Given the description of an element on the screen output the (x, y) to click on. 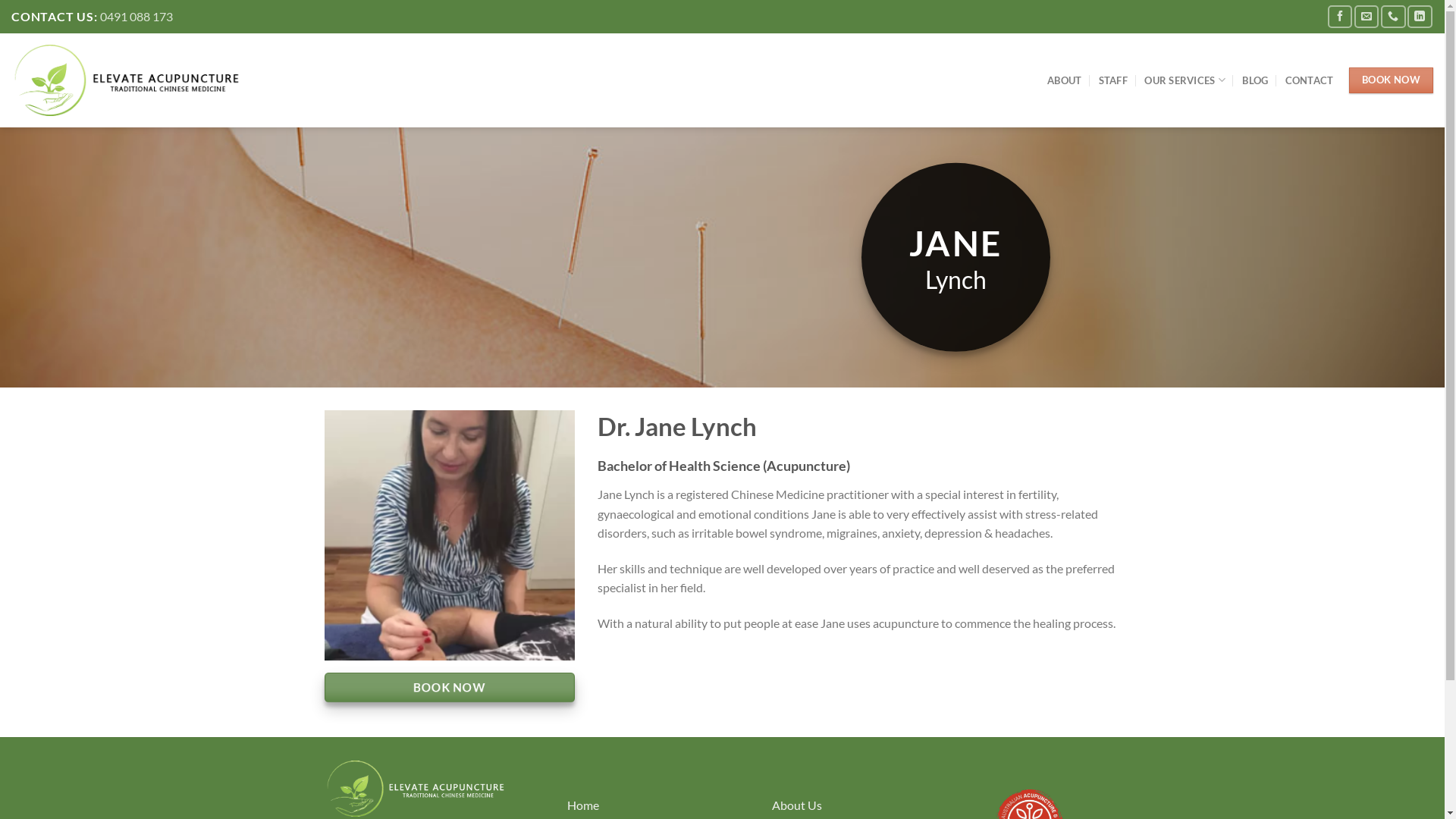
Jane Lynch 1 Element type: hover (449, 535)
BLOG Element type: text (1254, 80)
Elevate Acupuncture - Traditional Chinese Medicine Element type: hover (133, 80)
Call us Element type: hover (1392, 16)
STAFF Element type: text (1112, 80)
BOOK NOW Element type: text (449, 687)
ABOUT Element type: text (1064, 80)
Follow on Facebook Element type: hover (1339, 16)
Send us an email Element type: hover (1366, 16)
OUR SERVICES Element type: text (1184, 80)
Follow on LinkedIn Element type: hover (1419, 16)
CONTACT Element type: text (1309, 80)
BOOK NOW Element type: text (1391, 80)
0491 088 173 Element type: text (136, 16)
